Given the description of an element on the screen output the (x, y) to click on. 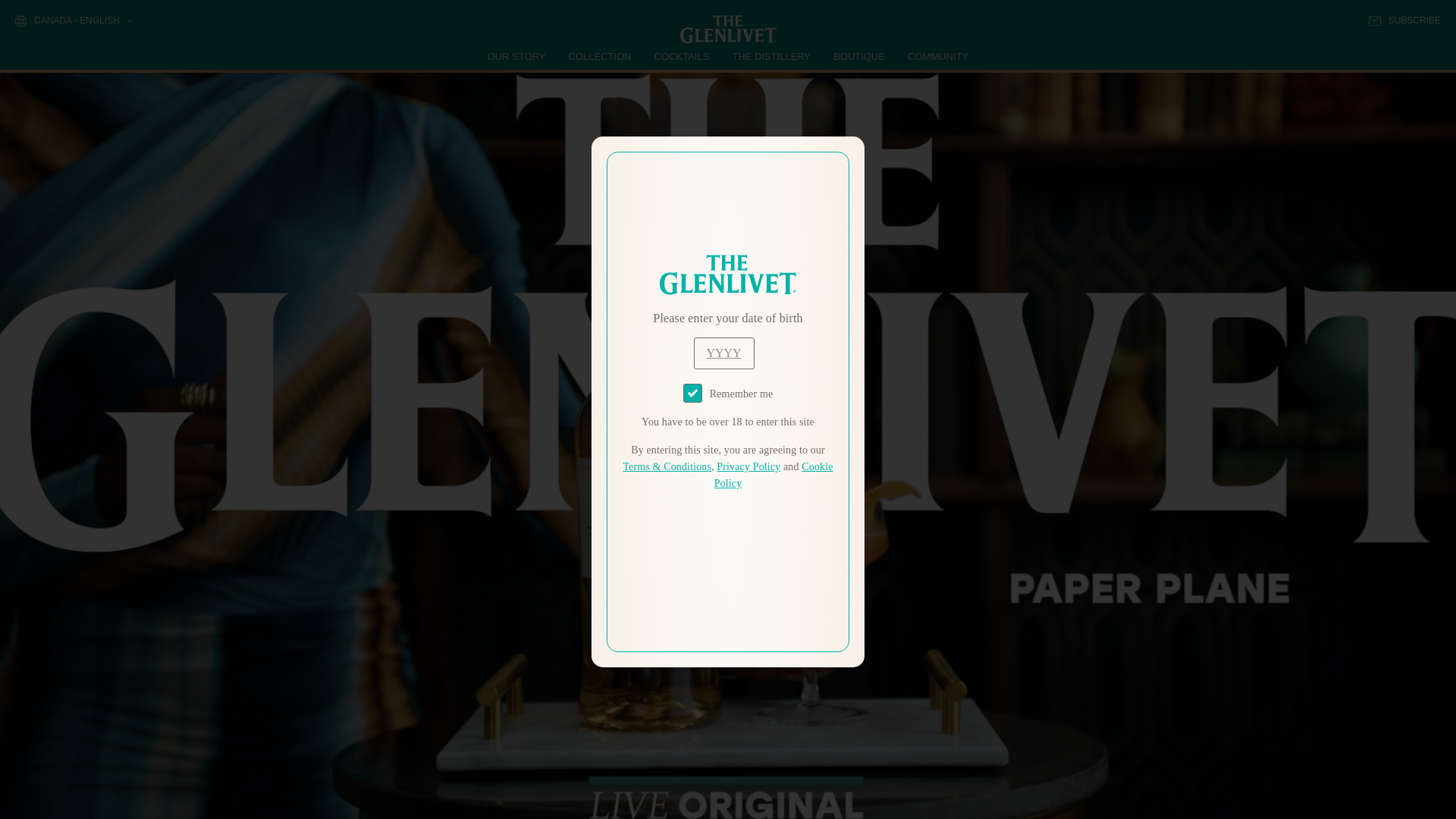
COCKTAILS (681, 56)
Privacy Policy (748, 466)
Cookie Policy (773, 474)
BOUTIQUE (858, 56)
THE DISTILLERY (771, 56)
CANADA - ENGLISH (73, 21)
SUBSCRIBE (1404, 20)
year (723, 353)
COMMUNITY (937, 56)
COLLECTION (600, 56)
OUR STORY (516, 56)
